Given the description of an element on the screen output the (x, y) to click on. 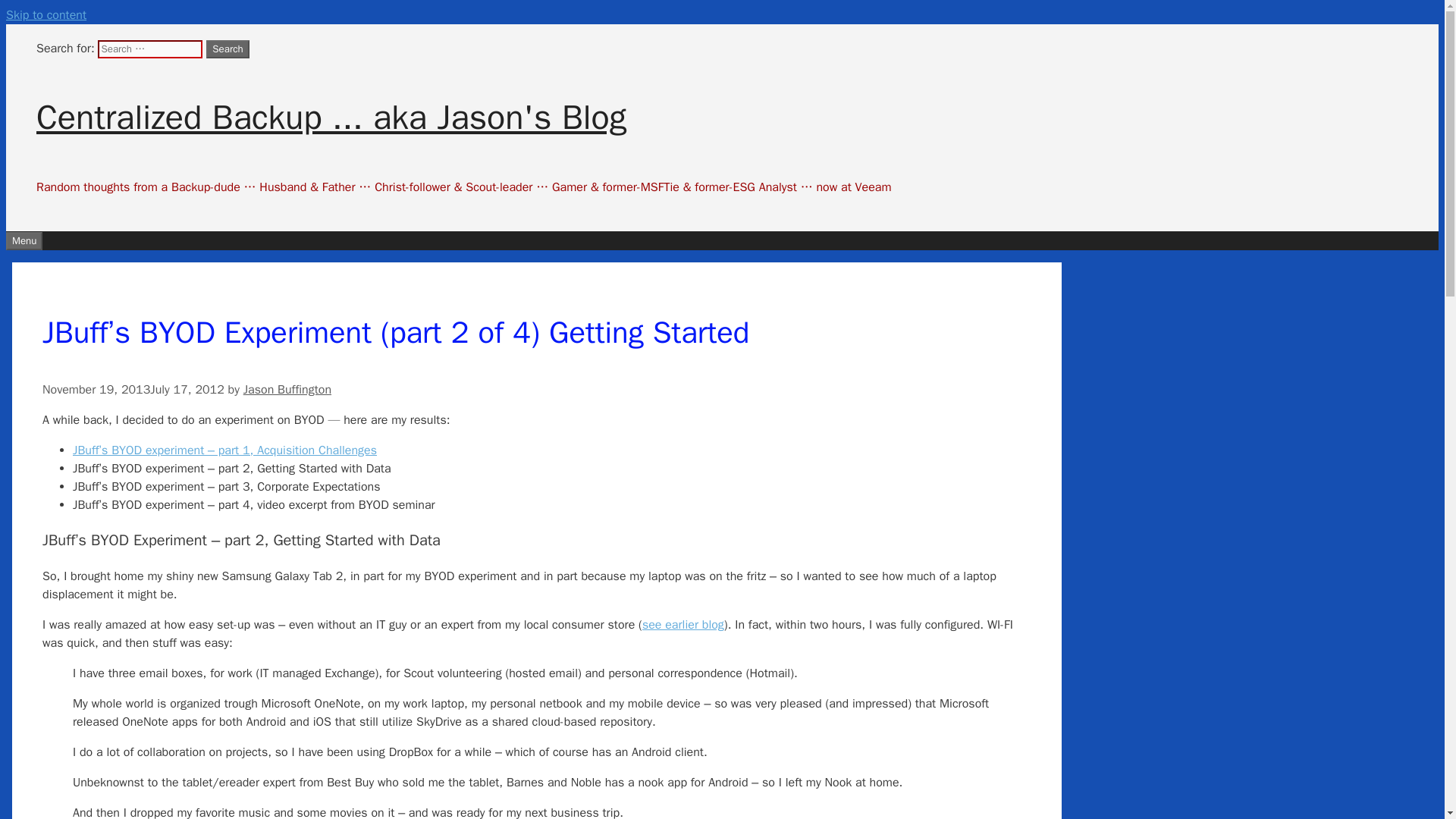
Jason Buffington (287, 389)
View all posts by Jason Buffington (287, 389)
JBuff's BYOD Experiment - part 1, Acquisition (682, 624)
Centralized Backup ... aka Jason's Blog (331, 117)
Search for: (149, 49)
Search (227, 49)
see earlier blog (682, 624)
Menu (23, 240)
Search (227, 49)
Skip to content (45, 14)
